Given the description of an element on the screen output the (x, y) to click on. 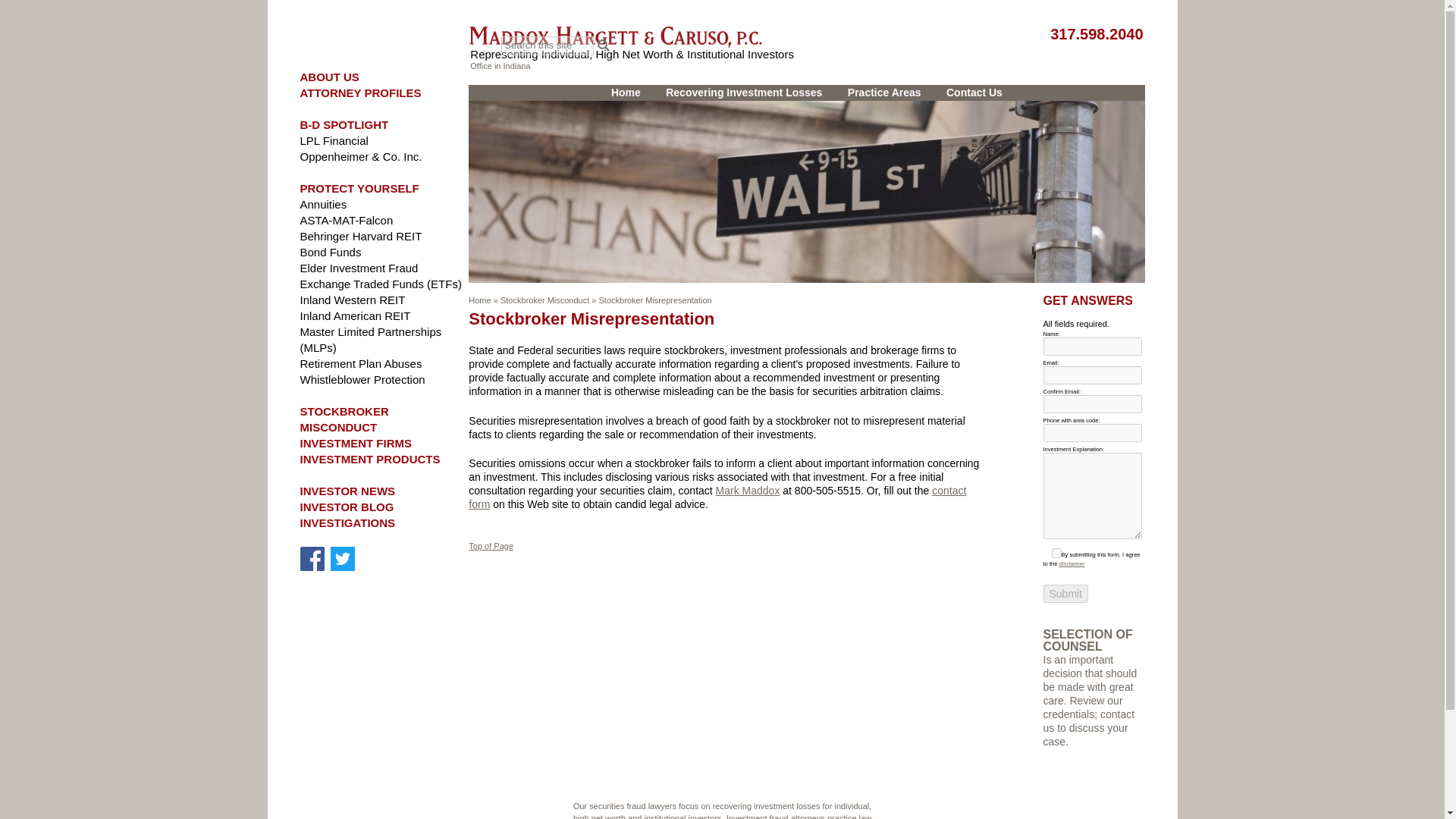
ASTA-MAT-Falcon (346, 219)
SELECTION OF COUNSEL (1087, 640)
Top of Page (490, 545)
ATTORNEY PROFILES (360, 92)
Home (479, 299)
Behringer Harvard REIT (360, 236)
Submit (1066, 593)
Retirement Plan Abuses (360, 363)
PROTECT YOURSELF (359, 187)
Stockbroker Misconduct (544, 299)
LPL Financial (333, 140)
disclaimer (1071, 563)
Inland American REIT (354, 315)
Inland Western REIT (352, 299)
INVESTOR BLOG (346, 506)
